Given the description of an element on the screen output the (x, y) to click on. 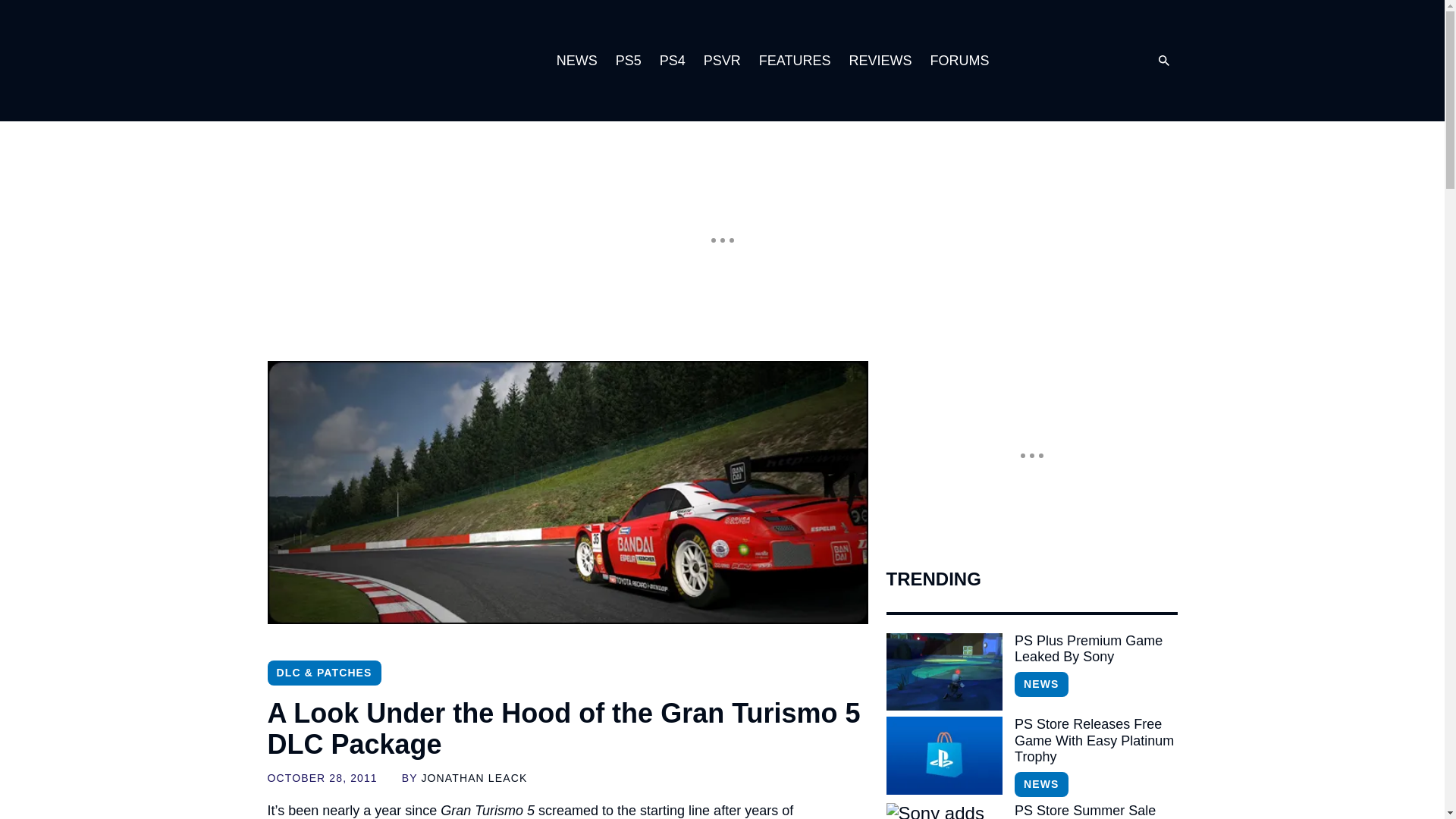
NEWS (1040, 683)
PS Store Releases Free Game With Easy Platinum Trophy (944, 754)
FORUMS (958, 60)
PS Store Releases Free Game With Easy Platinum Trophy (1095, 740)
PS5 (628, 60)
Instagram (1048, 60)
PS Plus Premium Game Leaked By Sony (944, 671)
Facebook (1109, 60)
PS Plus Premium Game Leaked By Sony (1095, 649)
PS Store Summer Sale Refresh Adds New Games (1095, 811)
PS Store Summer Sale Refresh Adds New Games (944, 811)
REVIEWS (880, 60)
PS4 (672, 60)
PS Store Releases Free Game With Easy Platinum Trophy (1095, 740)
